Given the description of an element on the screen output the (x, y) to click on. 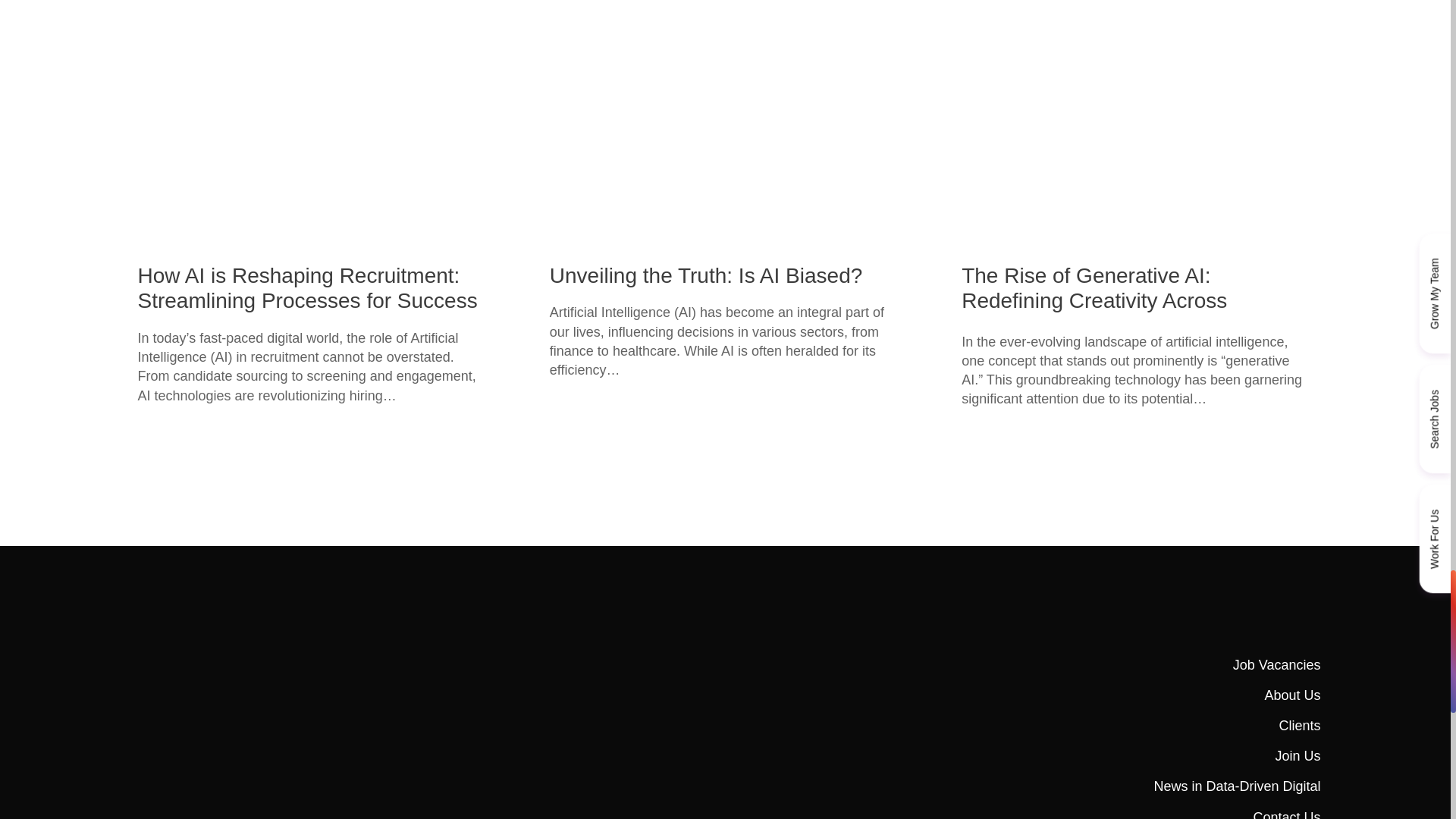
Unveiling the Truth: Is AI Biased? (705, 275)
